Given the description of an element on the screen output the (x, y) to click on. 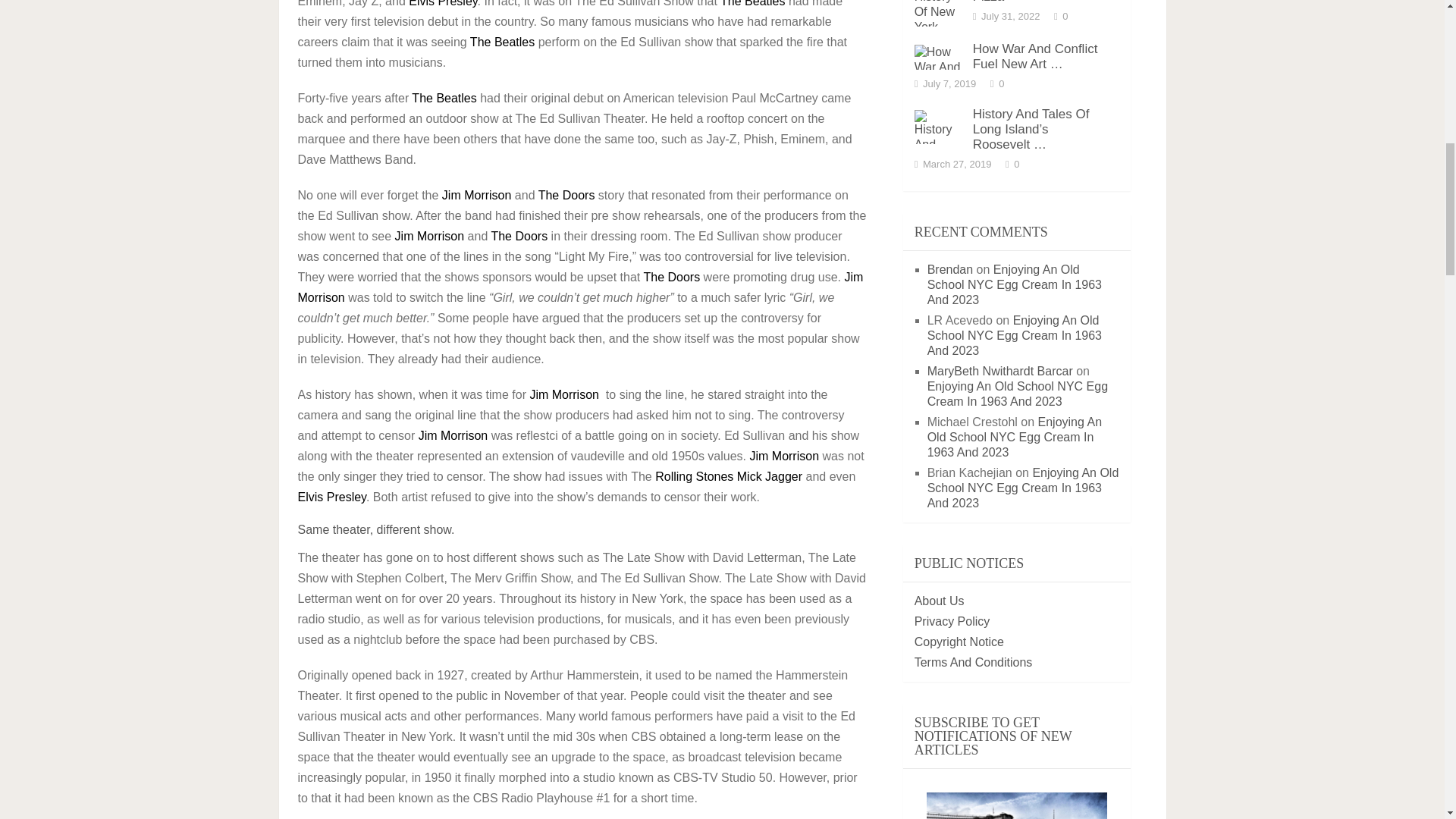
The Doors (520, 236)
The Beatles (502, 42)
The Beatles (444, 97)
Jim Morrison (580, 287)
The Doors (671, 277)
The Beatles (752, 3)
Elvis Presley (443, 3)
Jim Morrison (563, 394)
The Doors (566, 195)
Jim Morrison (477, 195)
